Given the description of an element on the screen output the (x, y) to click on. 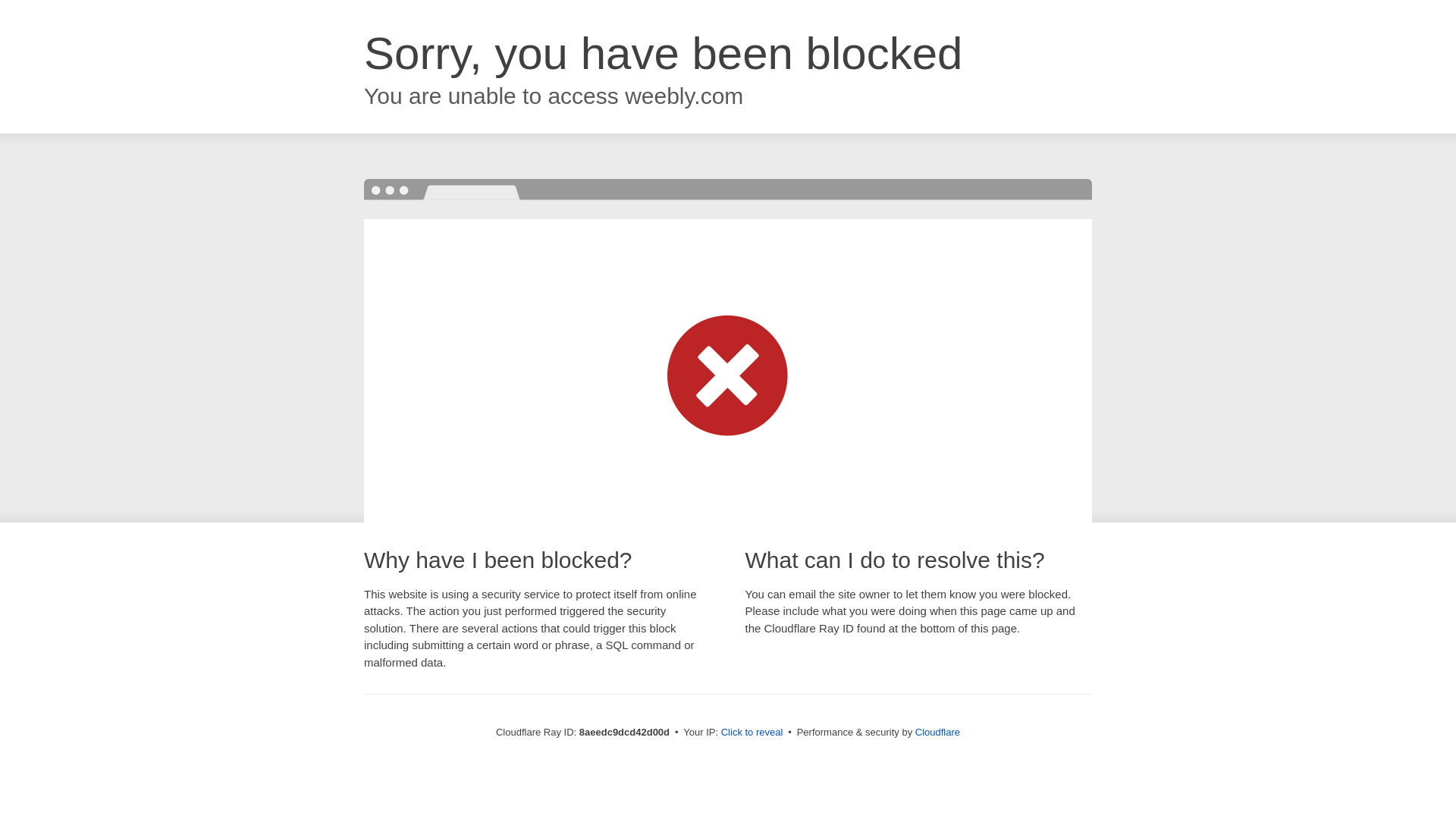
Click to reveal (751, 732)
Cloudflare (937, 731)
